Given the description of an element on the screen output the (x, y) to click on. 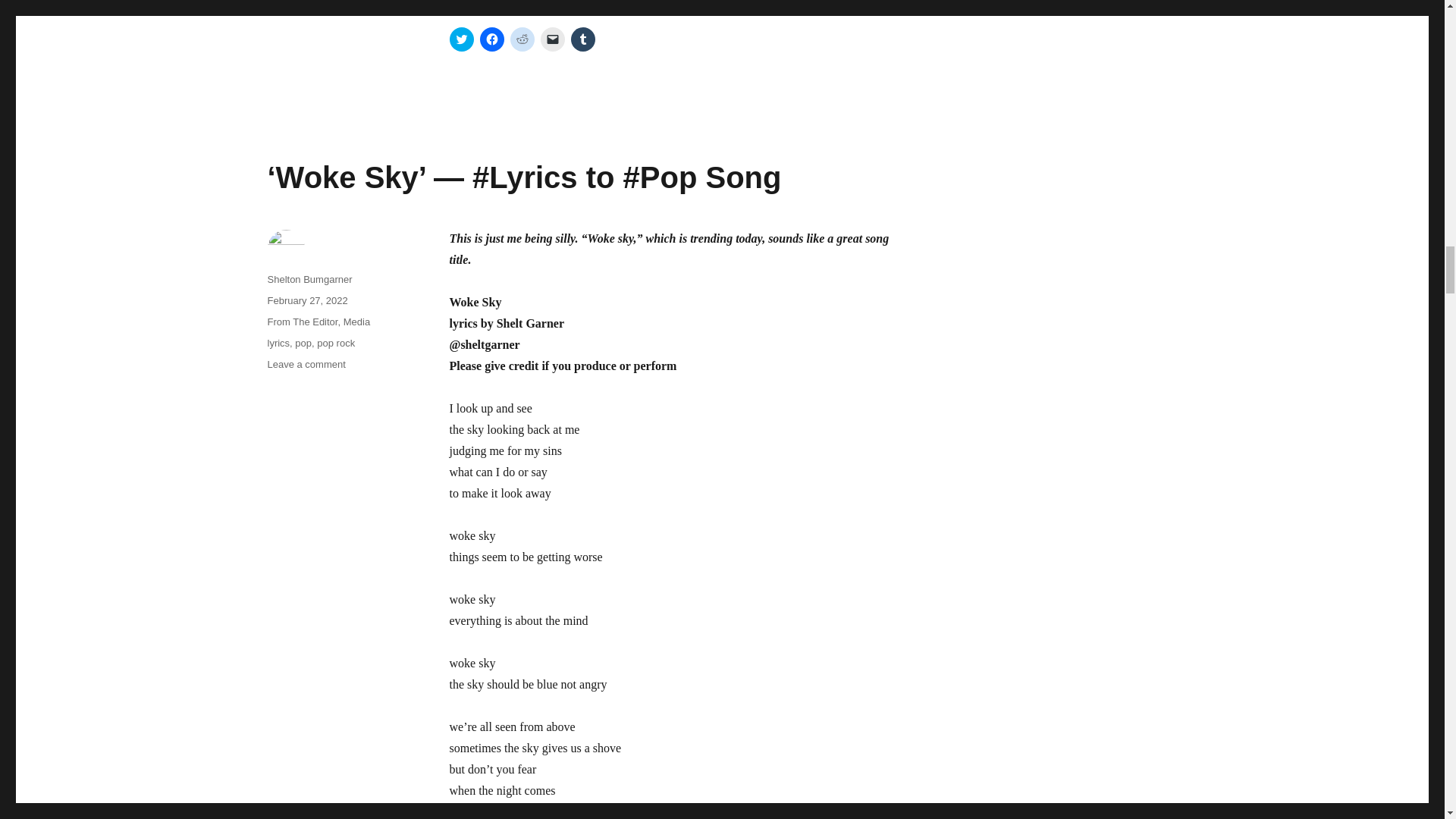
Click to share on Reddit (521, 39)
Click to email a link to a friend (552, 39)
Click to share on Twitter (460, 39)
Click to share on Tumblr (582, 39)
Click to share on Facebook (491, 39)
